Given the description of an element on the screen output the (x, y) to click on. 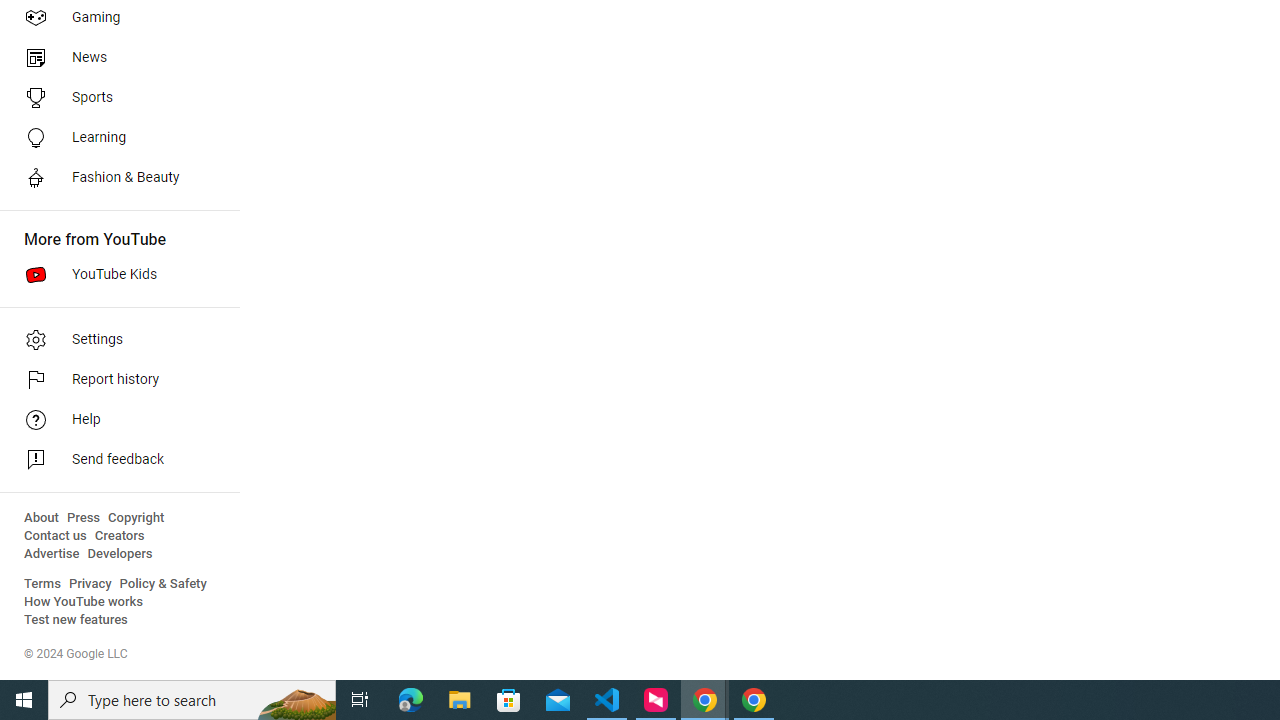
Report history (113, 380)
Send feedback (113, 459)
Test new features (76, 620)
Creators (118, 536)
Learning (113, 137)
Copyright (136, 518)
Contact us (55, 536)
Advertise (51, 554)
Press (83, 518)
Help (113, 419)
Sports (113, 97)
Policy & Safety (163, 584)
How YouTube works (83, 602)
Developers (120, 554)
About (41, 518)
